Given the description of an element on the screen output the (x, y) to click on. 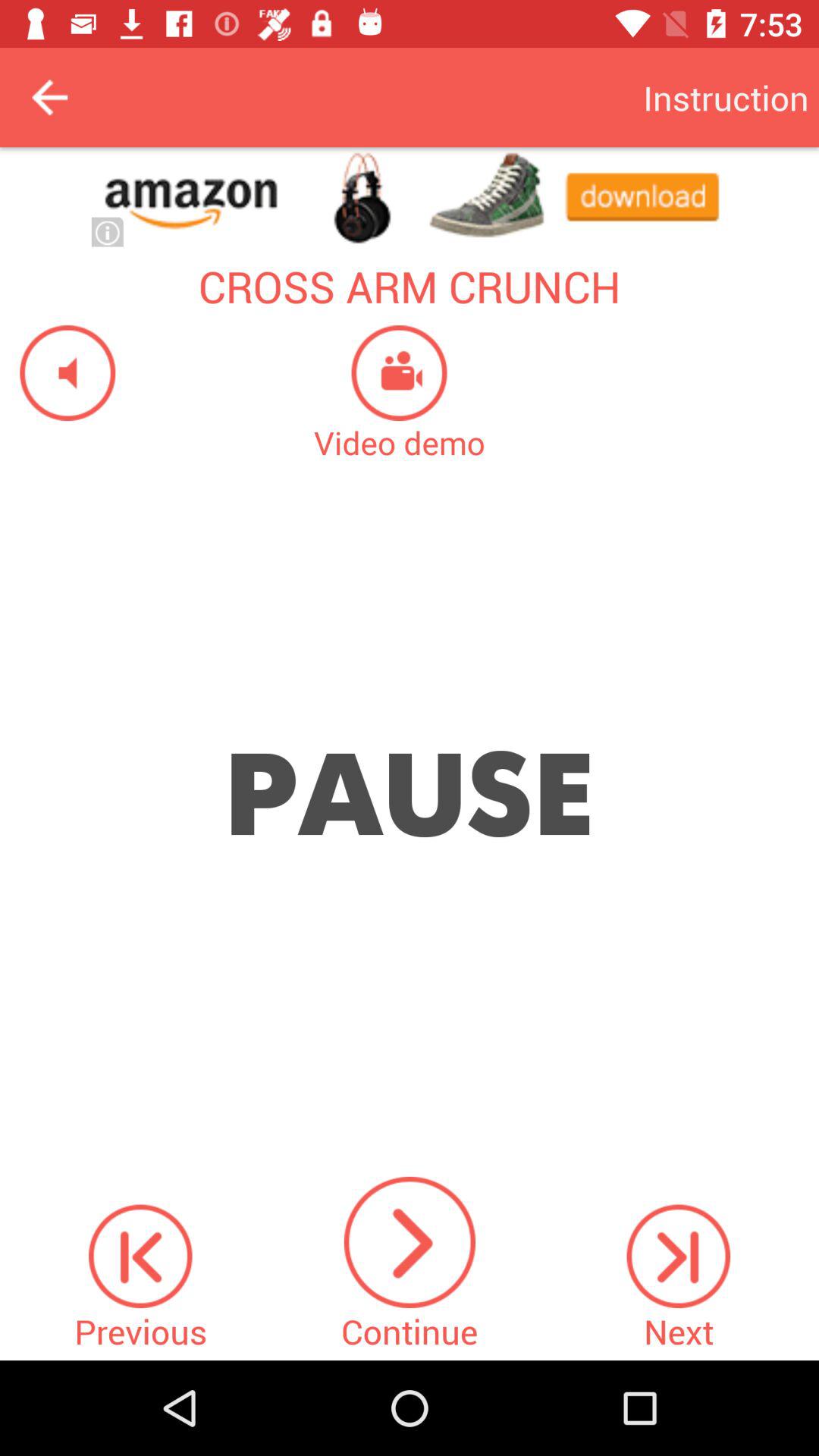
show advertisement (409, 196)
